Given the description of an element on the screen output the (x, y) to click on. 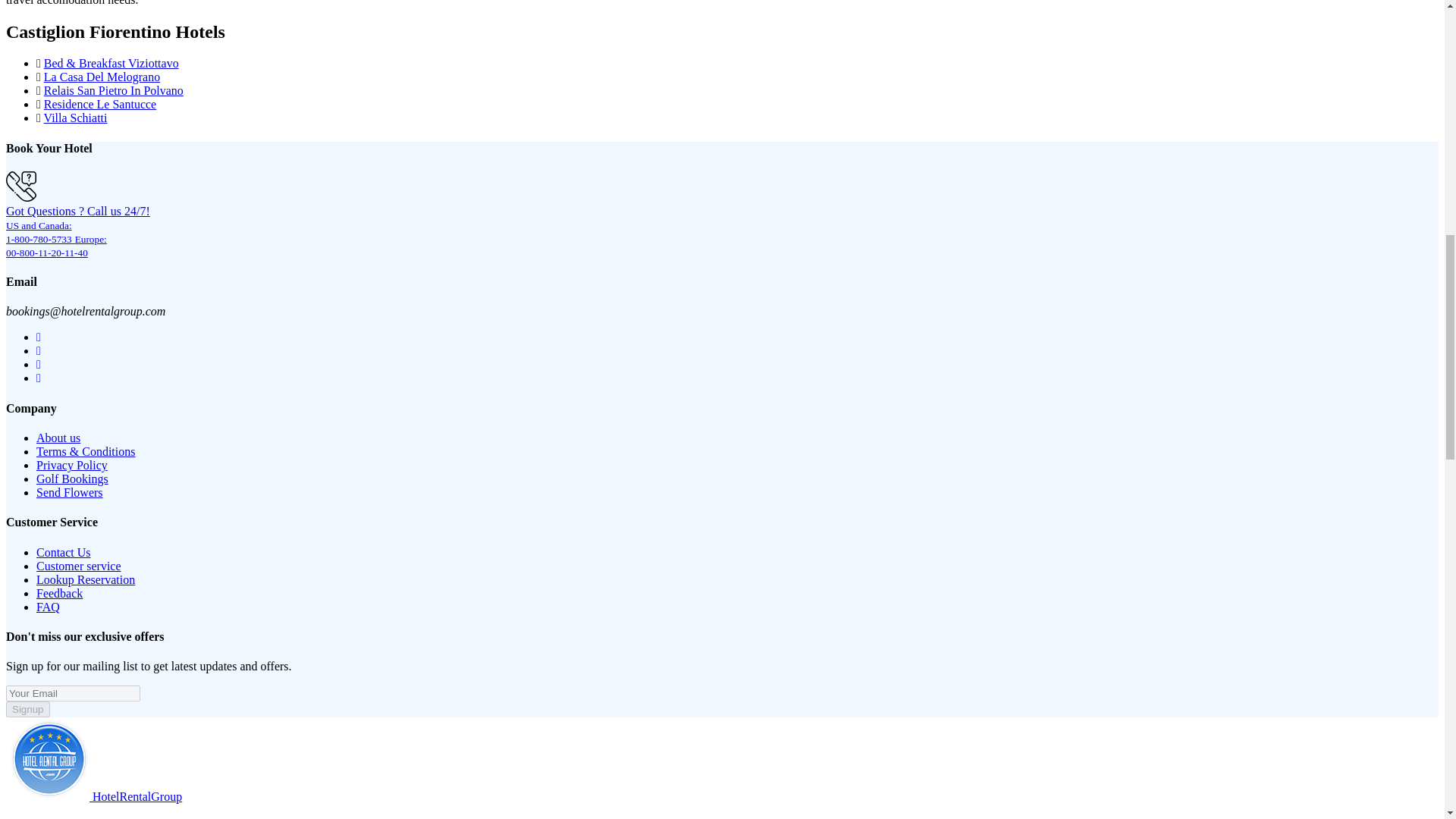
La Casa Del Melograno (101, 76)
